Given the description of an element on the screen output the (x, y) to click on. 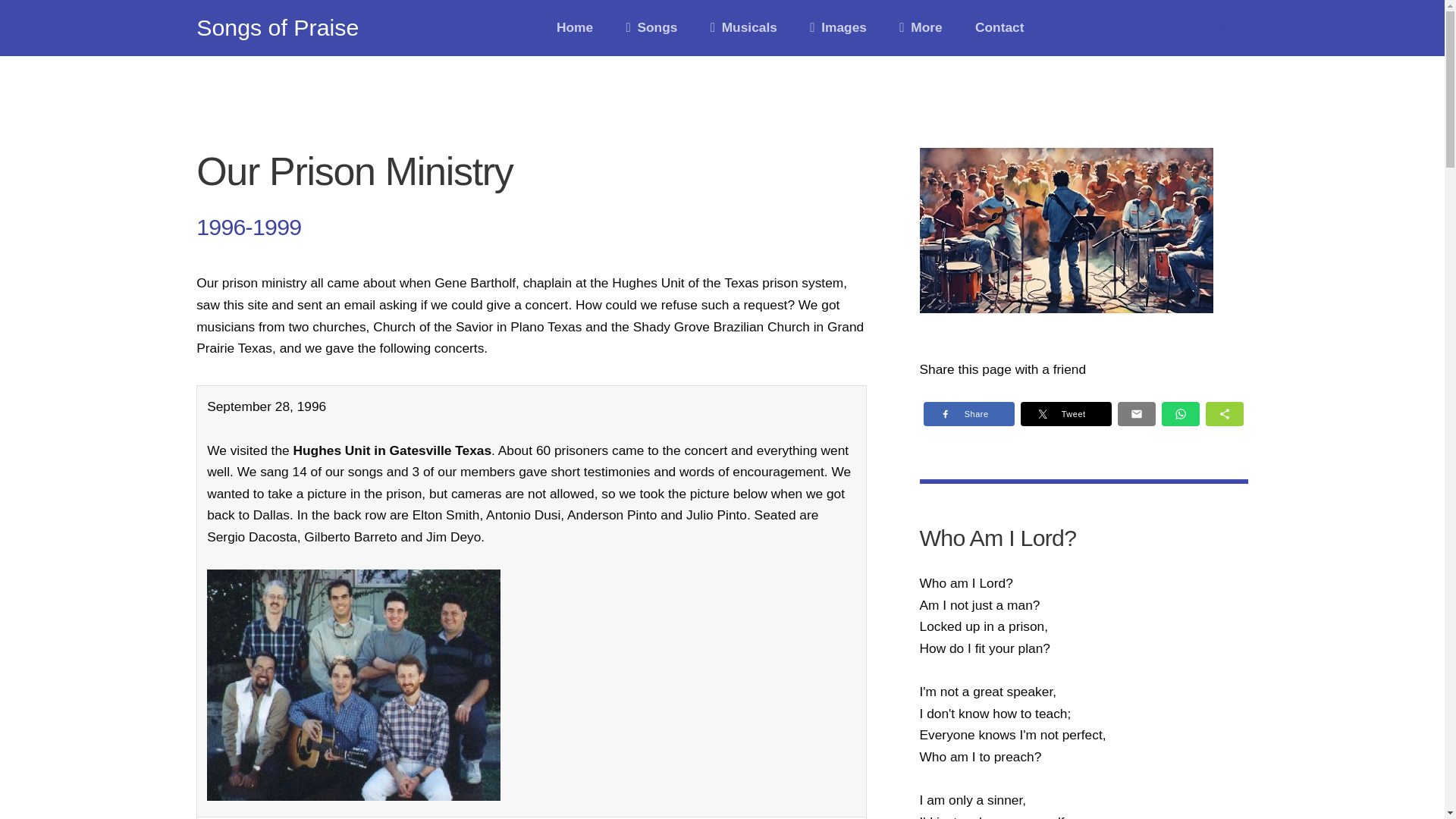
Contact (999, 27)
Images (837, 27)
Home (575, 27)
Songs of Praise (277, 28)
Musicals (743, 27)
More (920, 27)
Songs (651, 27)
